Given the description of an element on the screen output the (x, y) to click on. 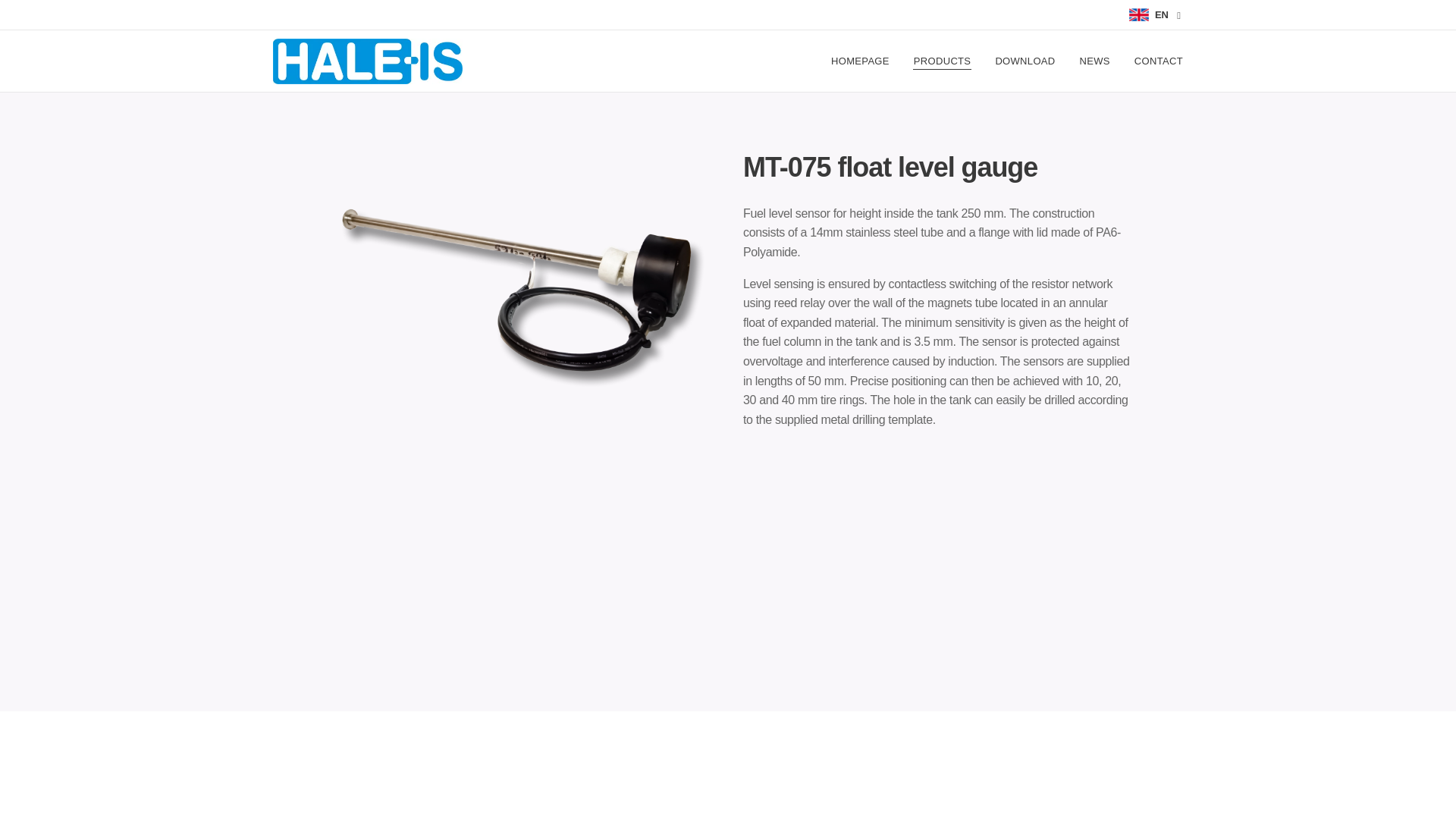
CONTACT (1152, 61)
DOWNLOAD (1024, 61)
PRODUCTS (942, 61)
HOMEPAGE (864, 61)
NEWS (1094, 61)
